Given the description of an element on the screen output the (x, y) to click on. 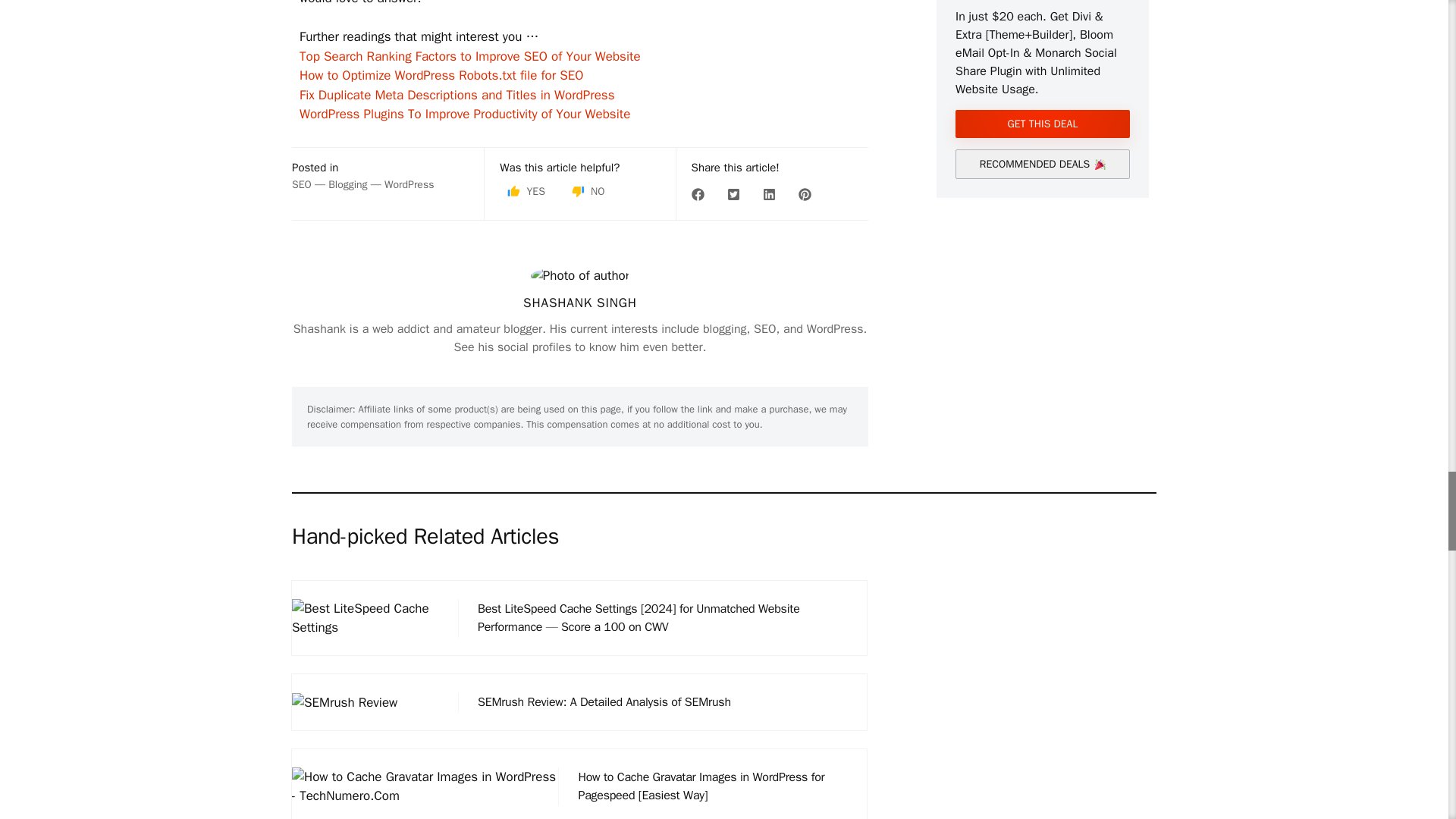
How to Optimize WordPress Robots.txt file for SEO (441, 75)
Fix Duplicate Meta Descriptions and Titles in WordPress (456, 94)
WordPress Plugins To Improve Productivity of Your Website (464, 114)
Top Search Ranking Factors to Improve SEO of Your Website (469, 56)
SEO (301, 183)
